Given the description of an element on the screen output the (x, y) to click on. 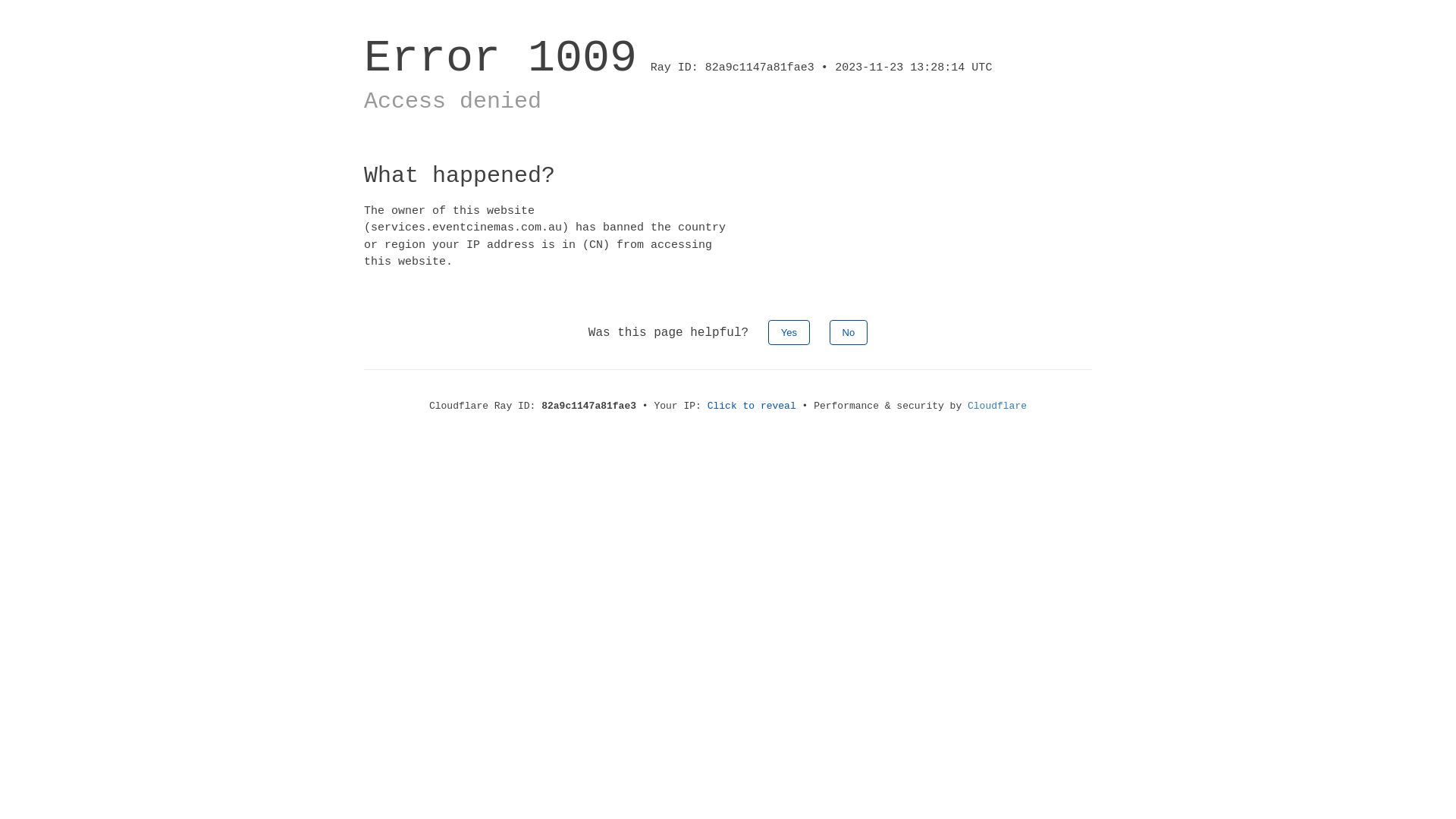
Click to reveal Element type: text (751, 405)
Yes Element type: text (788, 332)
Cloudflare Element type: text (996, 405)
No Element type: text (848, 332)
